Given the description of an element on the screen output the (x, y) to click on. 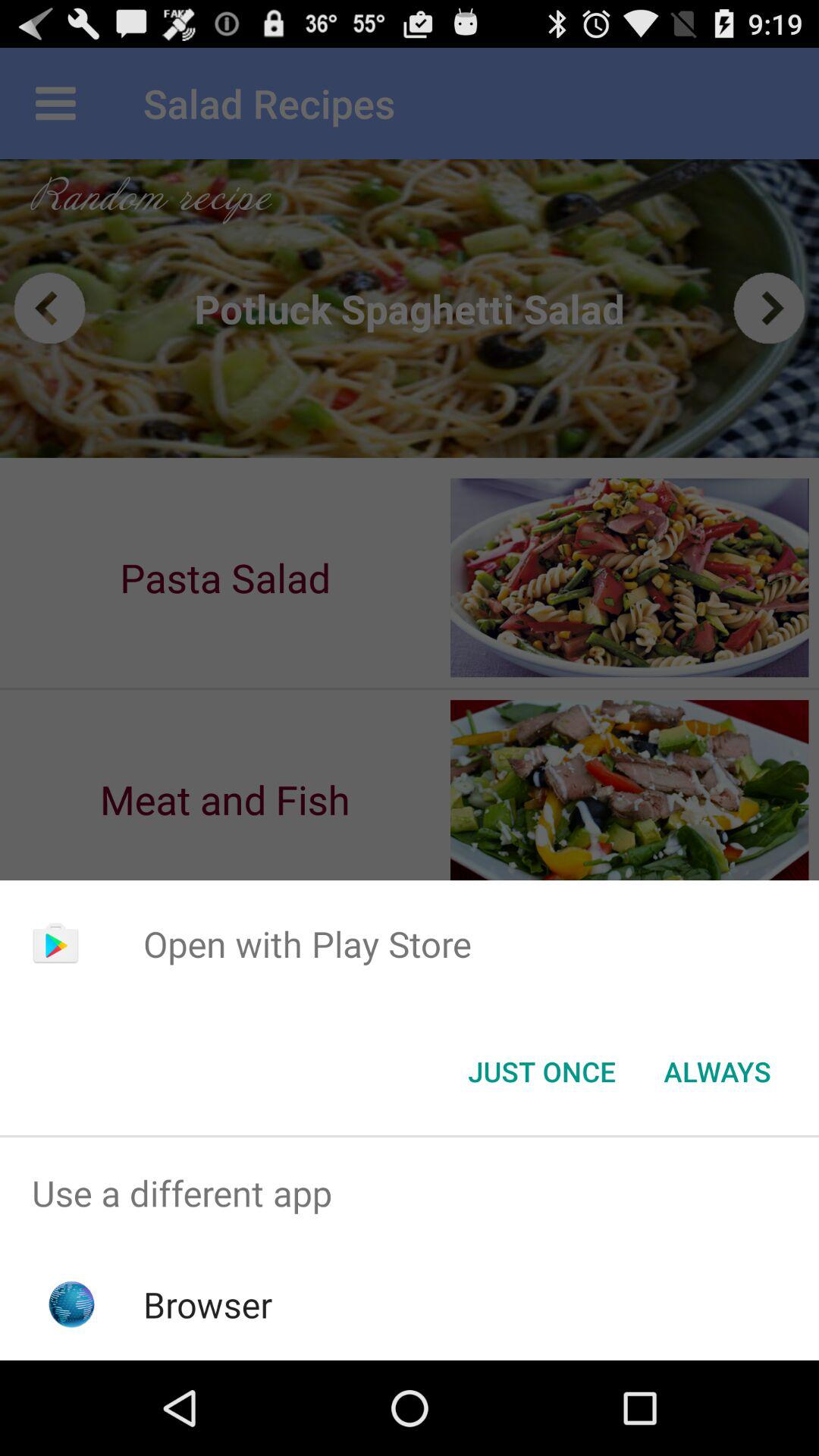
jump until browser icon (207, 1304)
